Given the description of an element on the screen output the (x, y) to click on. 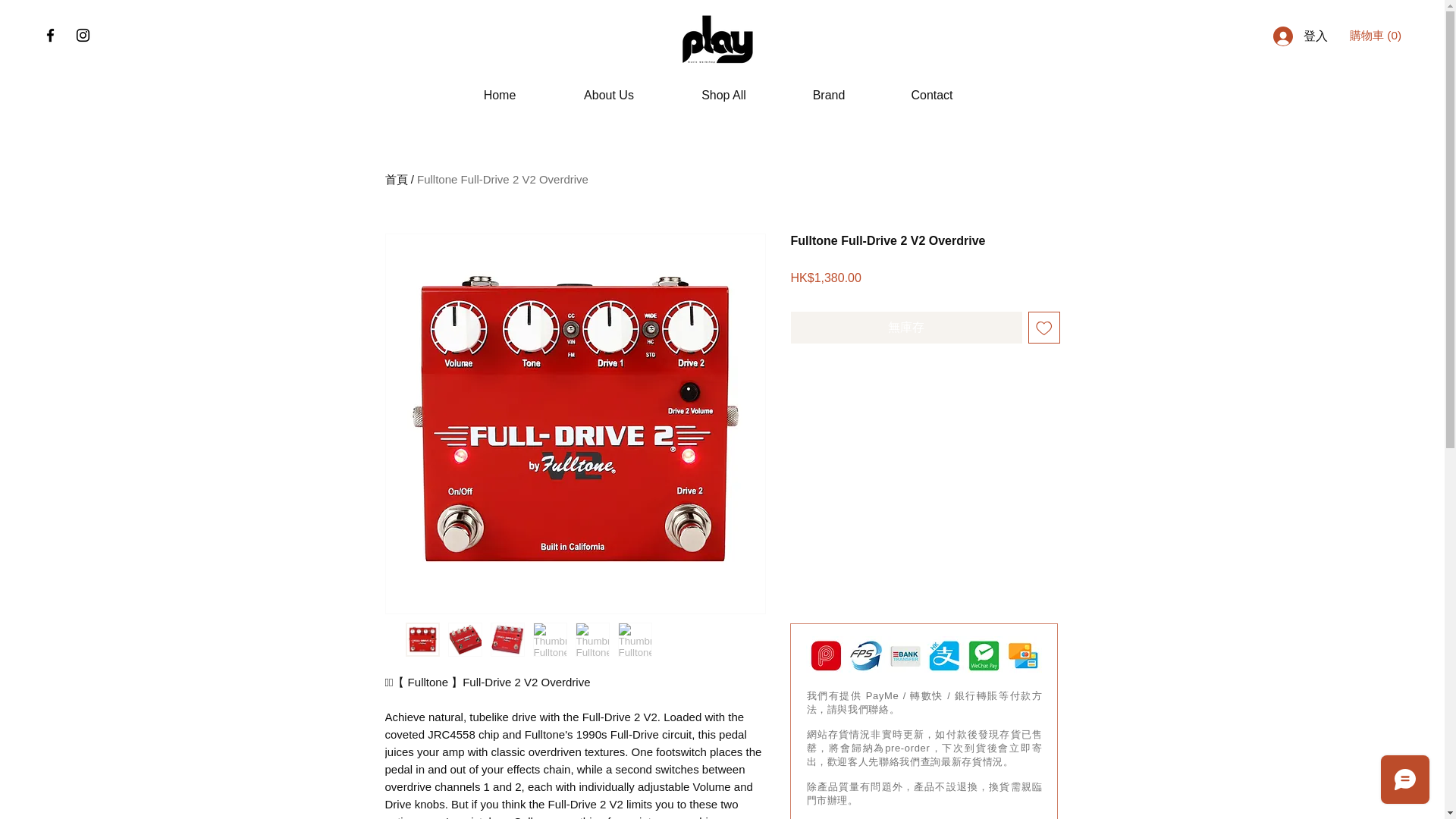
Shop All (722, 95)
Brand (827, 95)
Fulltone Full-Drive 2 V2 Overdrive (502, 178)
Home (499, 95)
About Us (609, 95)
Contact (932, 95)
